Given the description of an element on the screen output the (x, y) to click on. 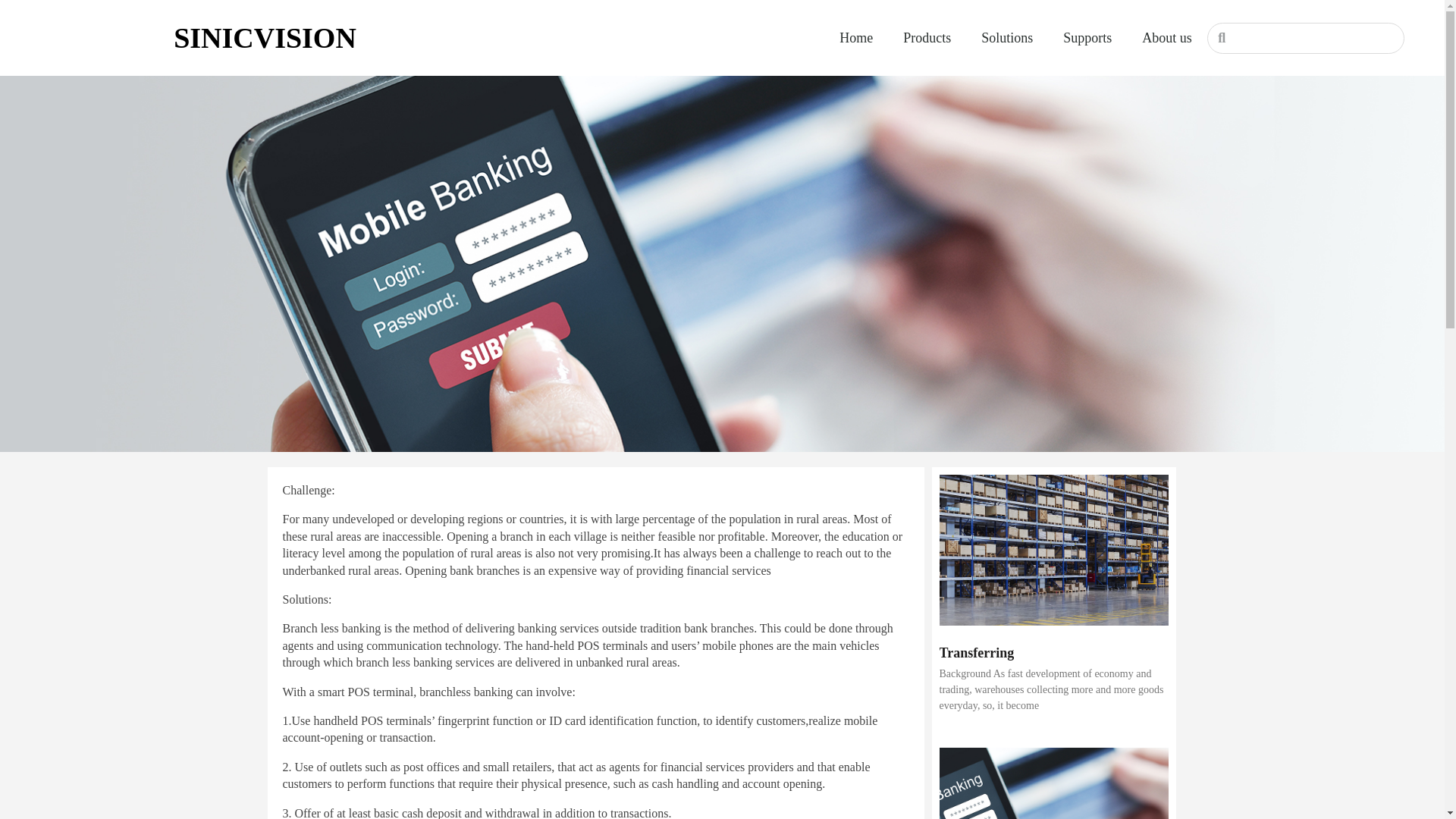
About us (1166, 38)
Products (927, 38)
Supports (1087, 38)
Transferring (976, 652)
Solutions (1007, 38)
